Given the description of an element on the screen output the (x, y) to click on. 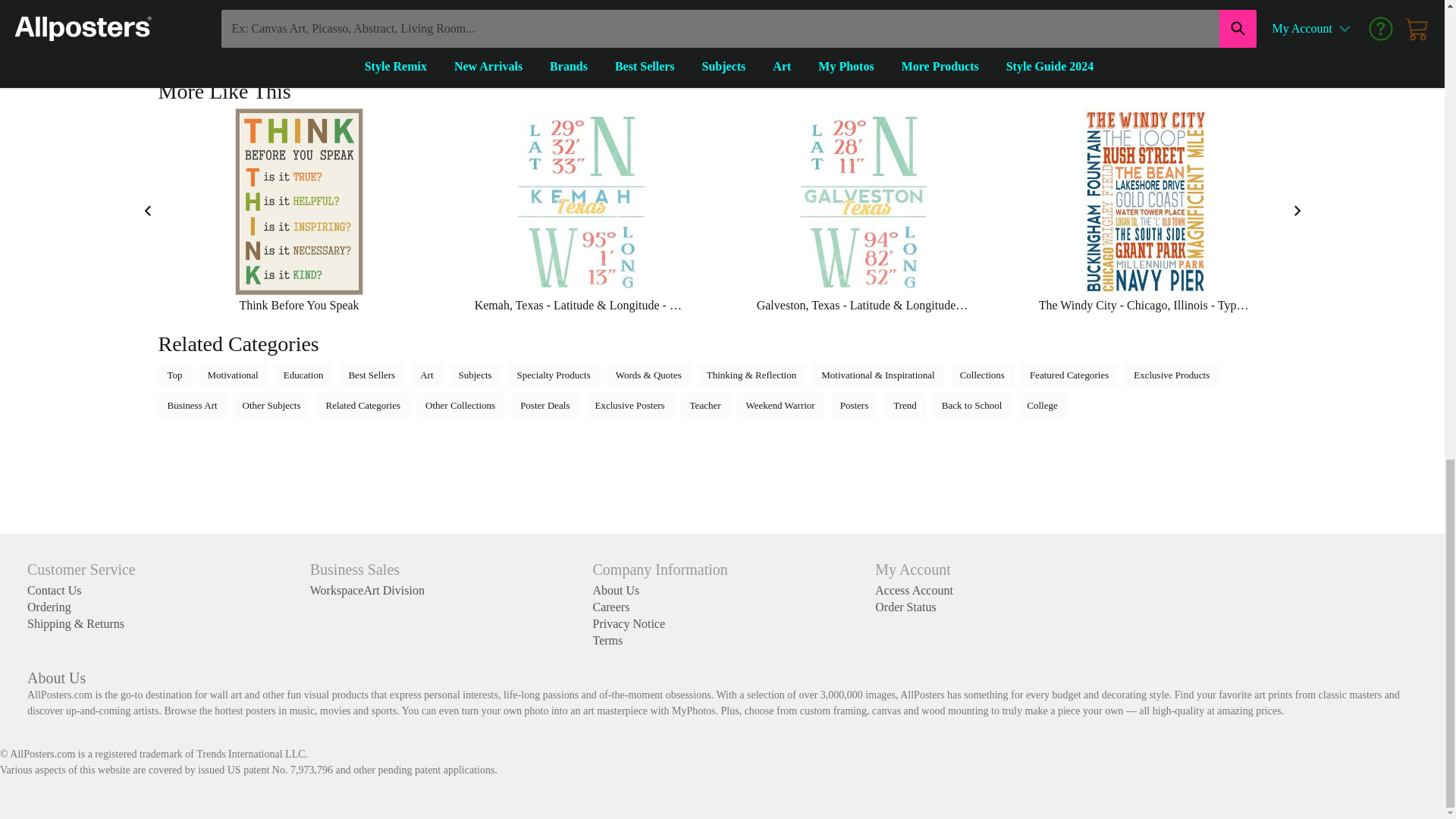
Think Before You Speak (298, 210)
